Given the description of an element on the screen output the (x, y) to click on. 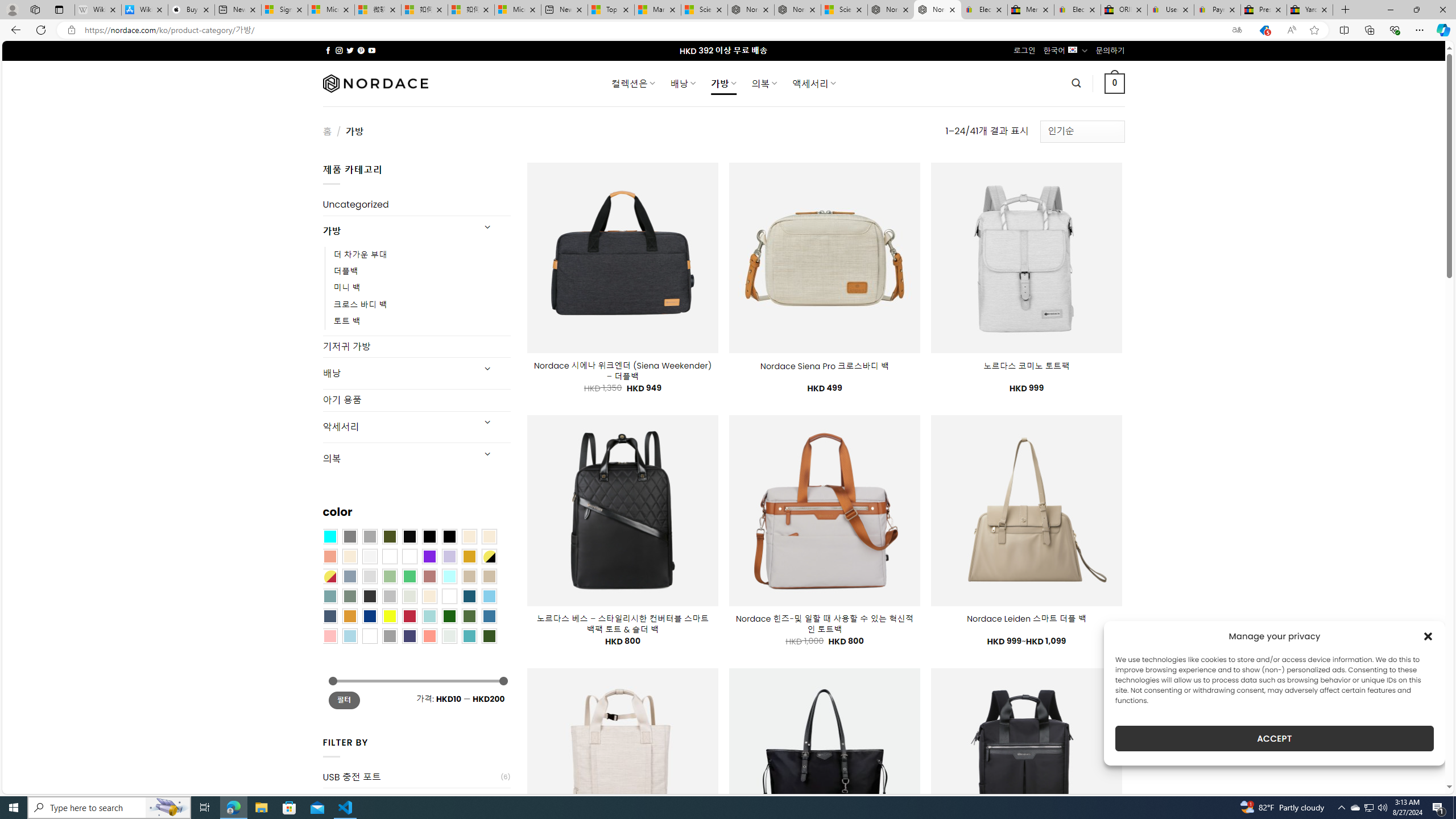
Wikipedia - Sleeping (97, 9)
Top Stories - MSN (610, 9)
Cream (349, 555)
  0   (1115, 83)
Marine life - MSN (656, 9)
Follow on Twitter (349, 50)
